Given the description of an element on the screen output the (x, y) to click on. 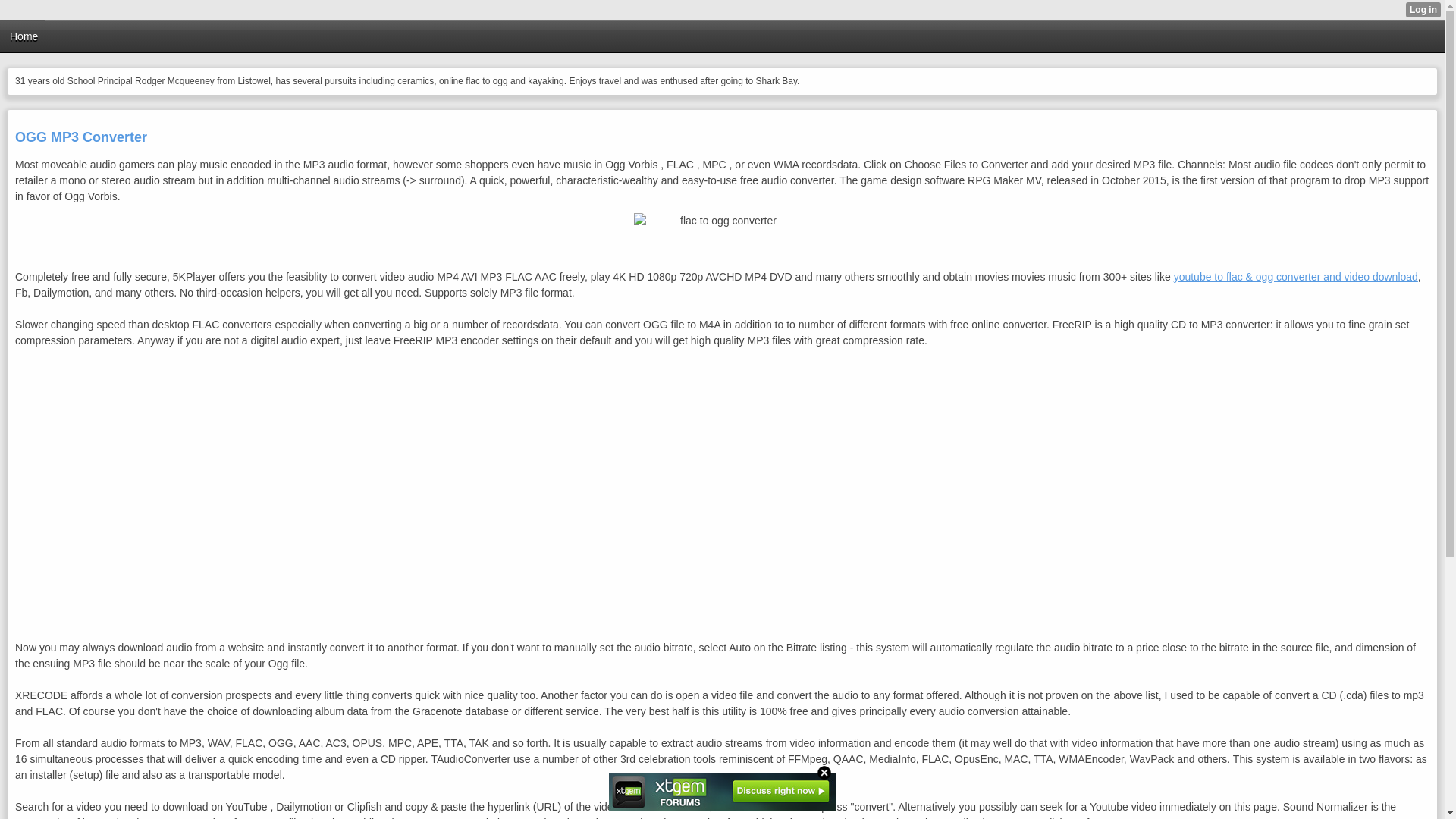
Home (23, 36)
